Given the description of an element on the screen output the (x, y) to click on. 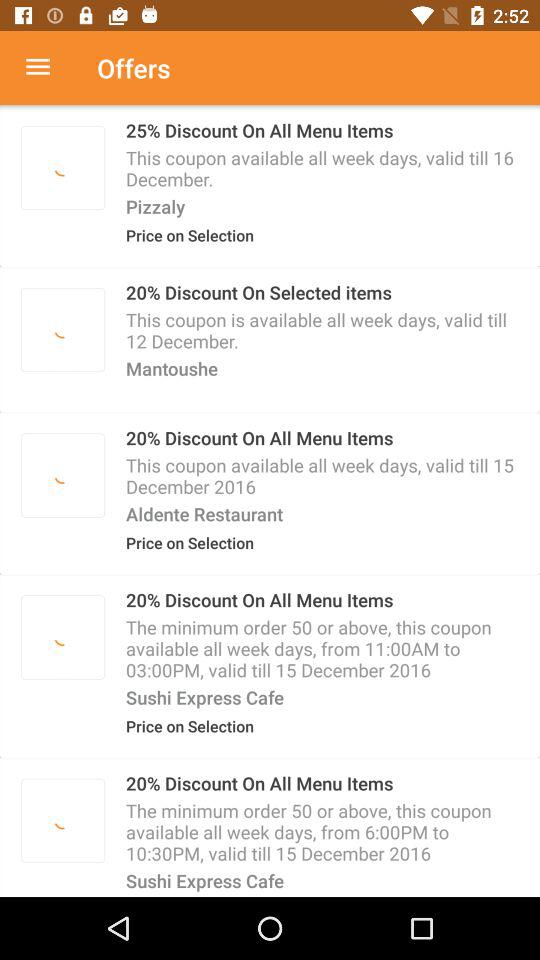
menu option (48, 67)
